Given the description of an element on the screen output the (x, y) to click on. 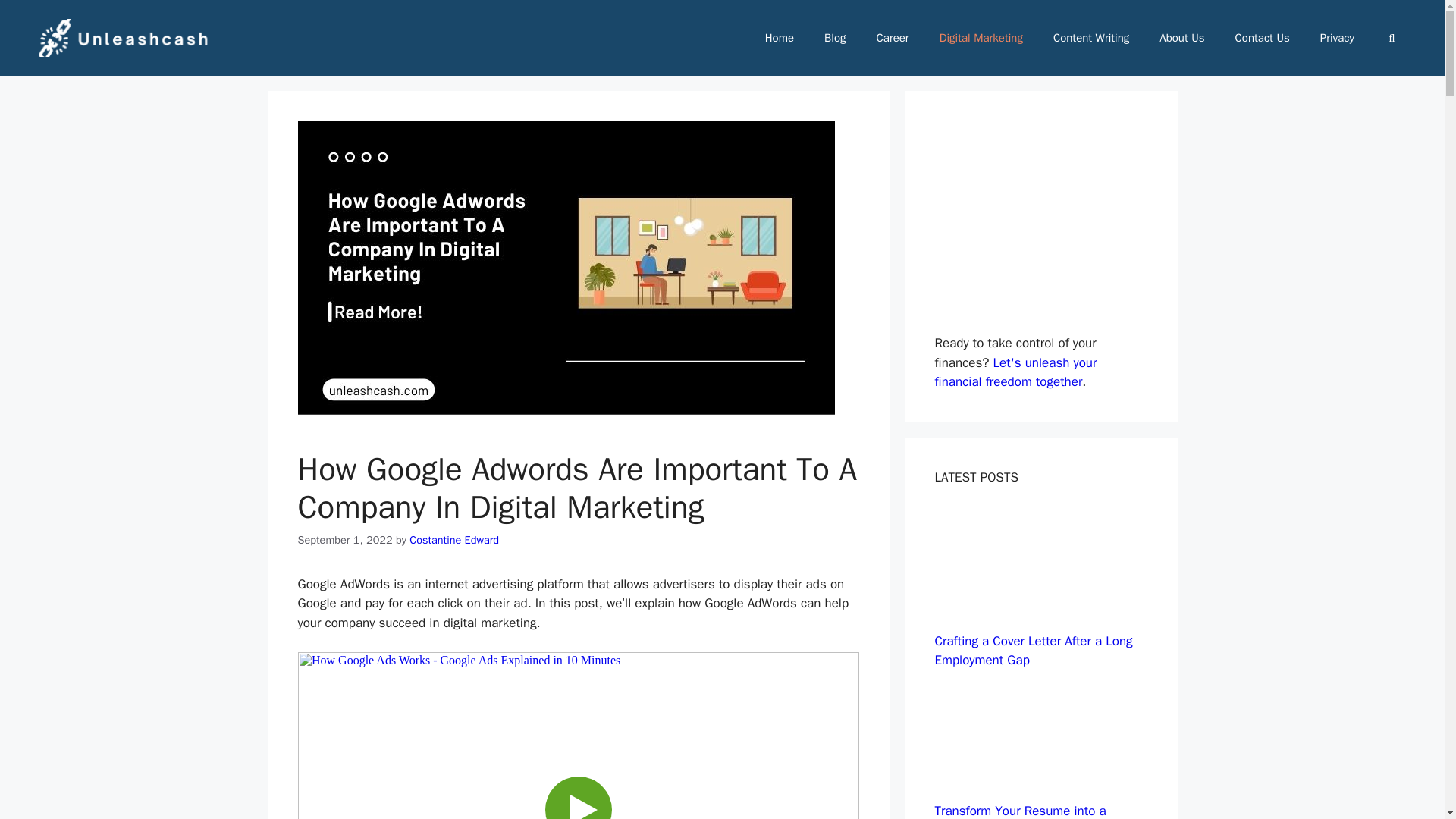
Privacy (1337, 37)
How Google Ads Works - Google Ads Explained in 10 Minutes (578, 735)
Costantine Edward (454, 540)
Content Writing (1091, 37)
Career (892, 37)
Contact Us (1262, 37)
About Us (1182, 37)
Home (779, 37)
Digital Marketing (981, 37)
Blog (834, 37)
